Given the description of an element on the screen output the (x, y) to click on. 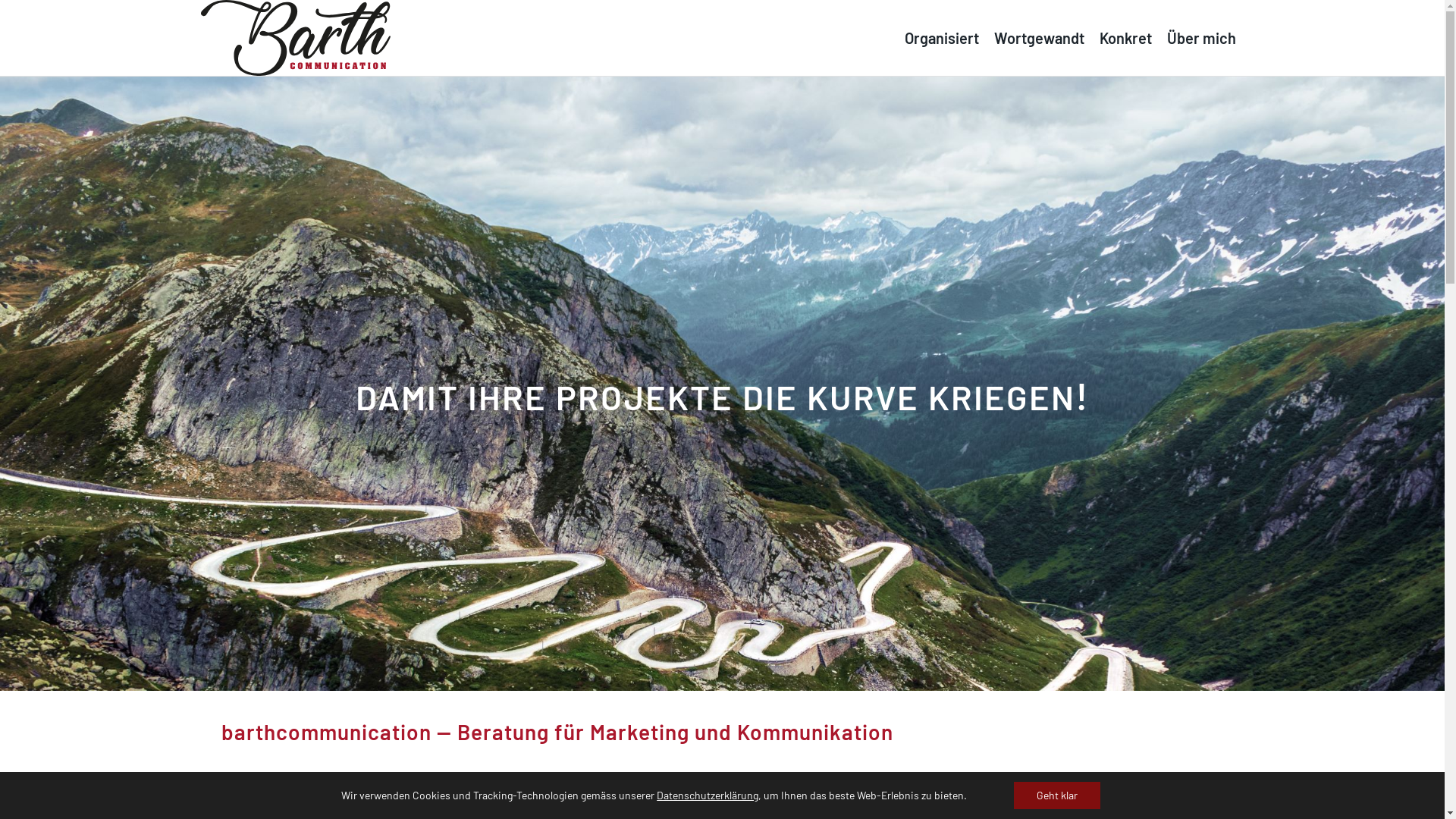
Geht klar Element type: text (1056, 795)
